Given the description of an element on the screen output the (x, y) to click on. 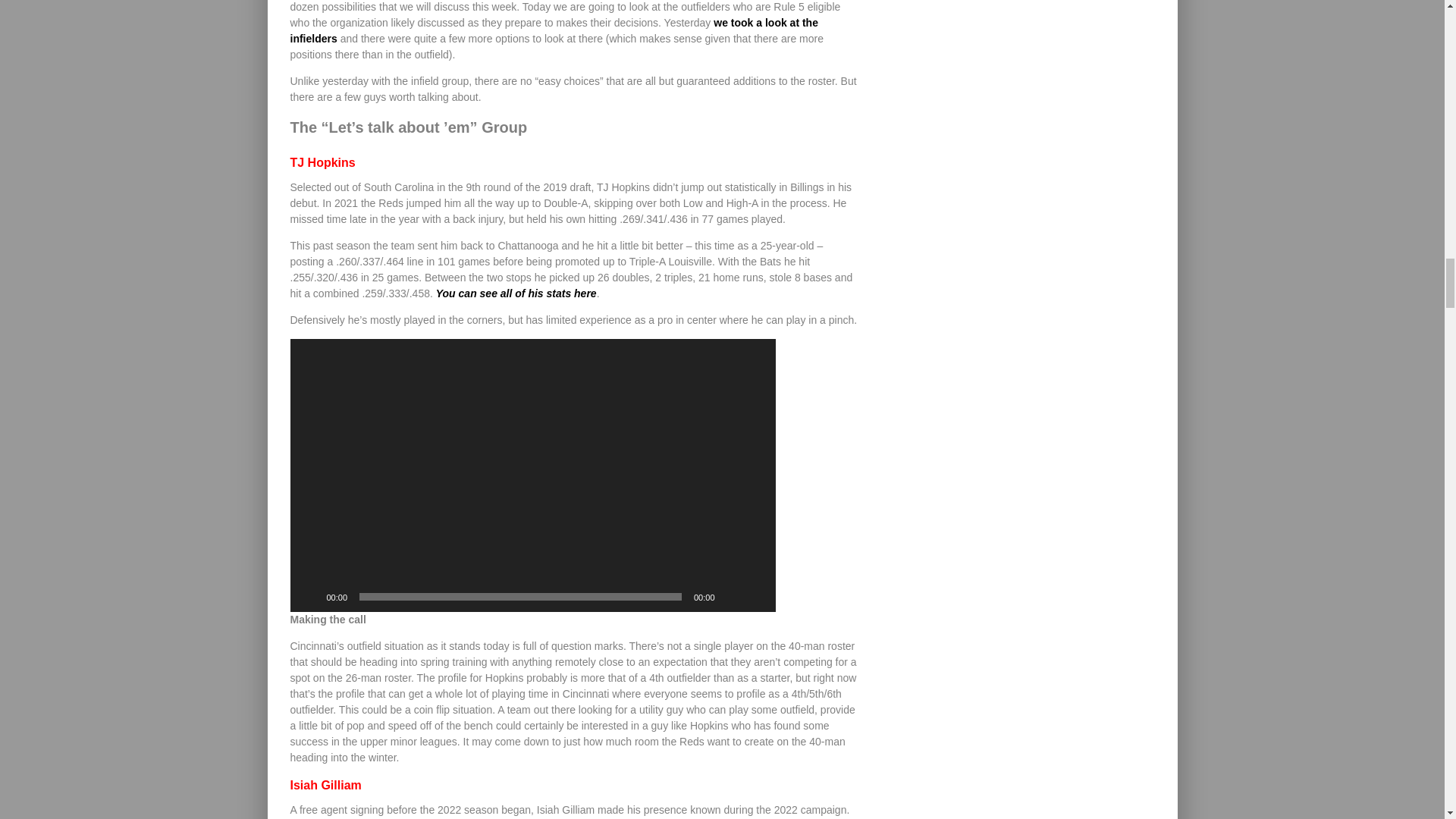
we took a look at the infielders (552, 30)
Play (309, 596)
Mute (730, 596)
Fullscreen (755, 596)
You can see all of his stats here (515, 293)
